Given the description of an element on the screen output the (x, y) to click on. 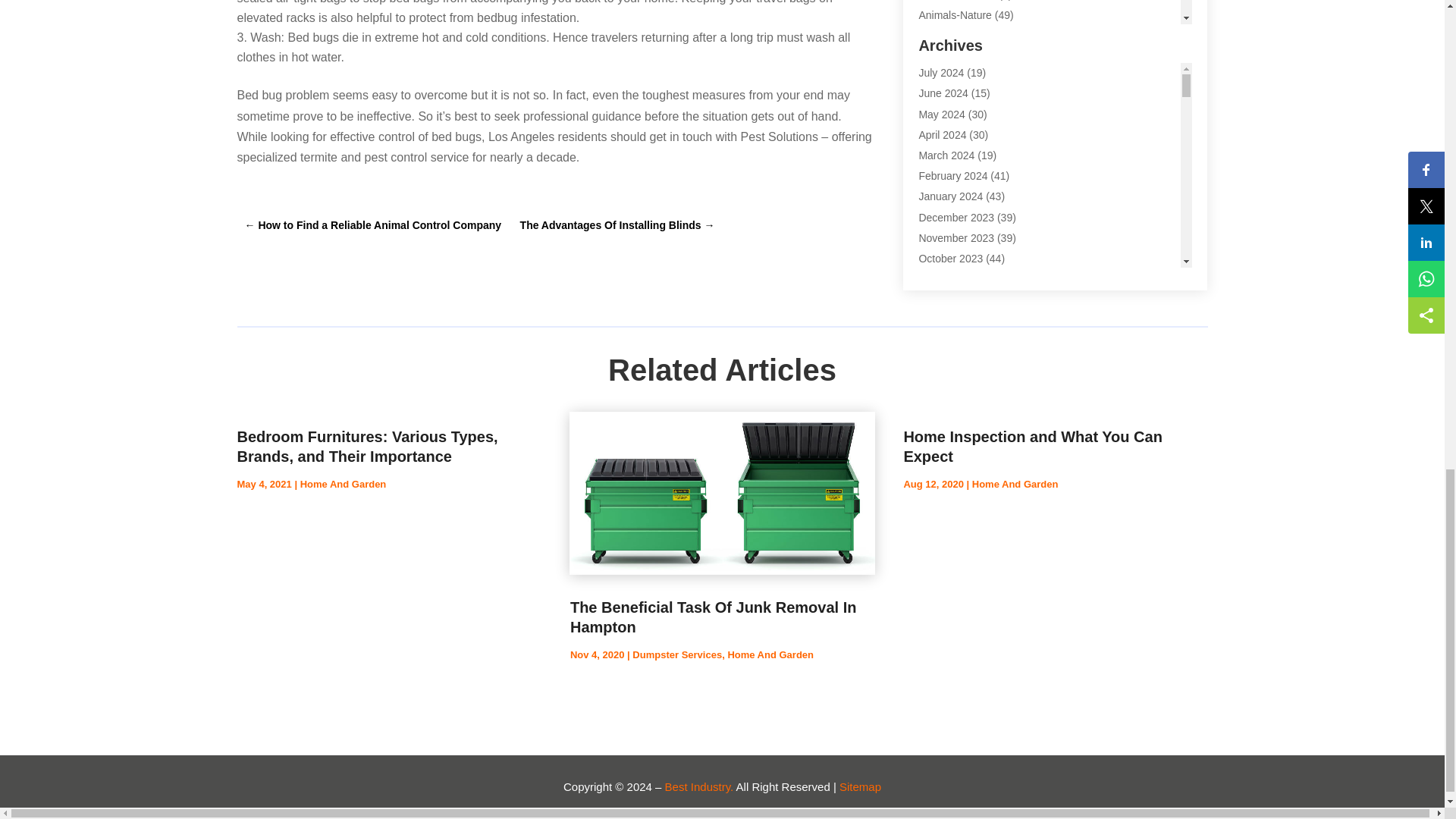
Apartment (943, 35)
Appliance (941, 76)
Apartment Building (962, 55)
Animals-Nature (954, 15)
